Given the description of an element on the screen output the (x, y) to click on. 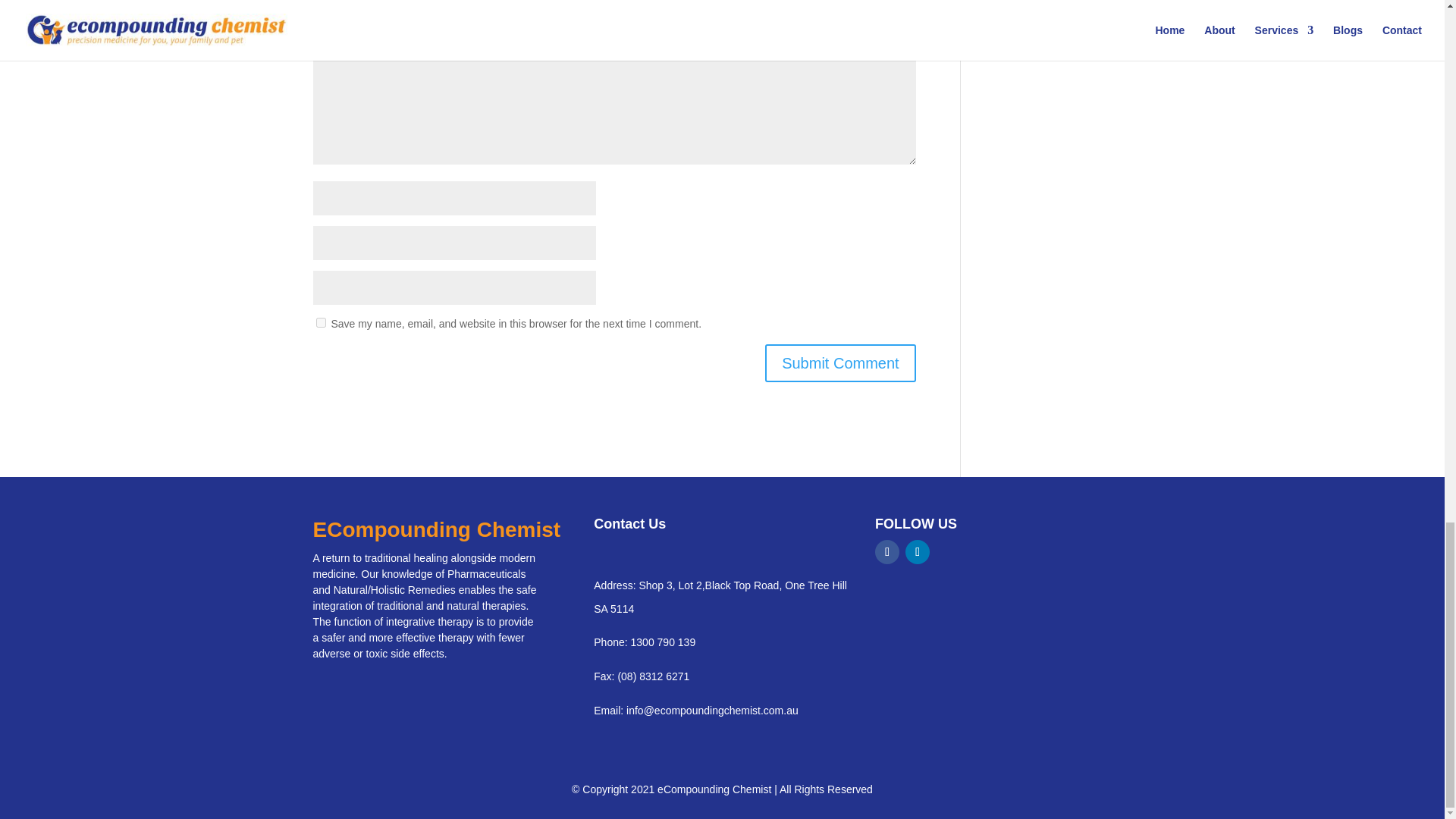
yes (319, 322)
Follow on LinkedIn (917, 551)
Submit Comment (840, 362)
Follow on Facebook (887, 551)
Submit Comment (840, 362)
